Given the description of an element on the screen output the (x, y) to click on. 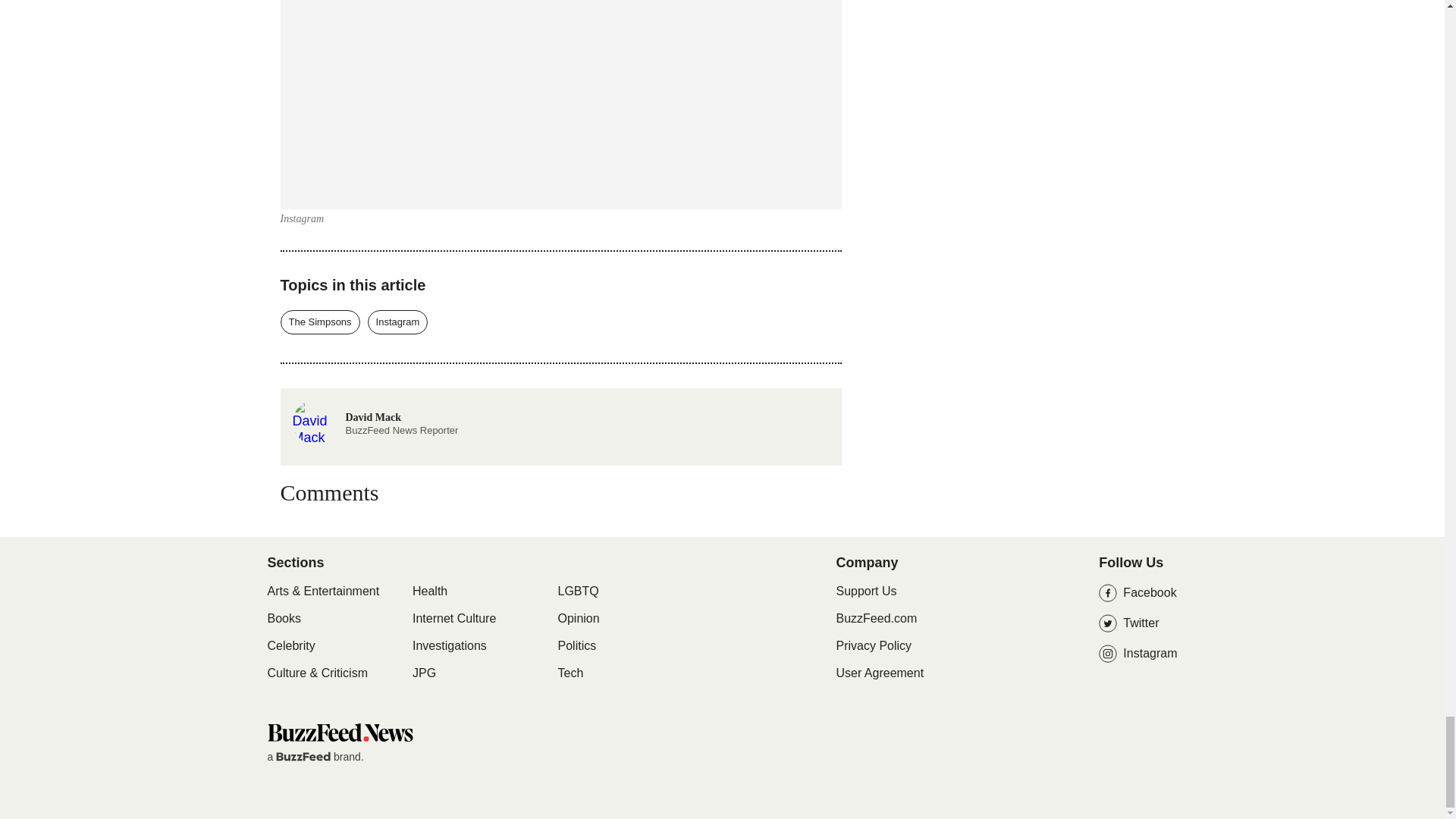
BuzzFeed News Home (339, 732)
BuzzFeed (303, 756)
